Given the description of an element on the screen output the (x, y) to click on. 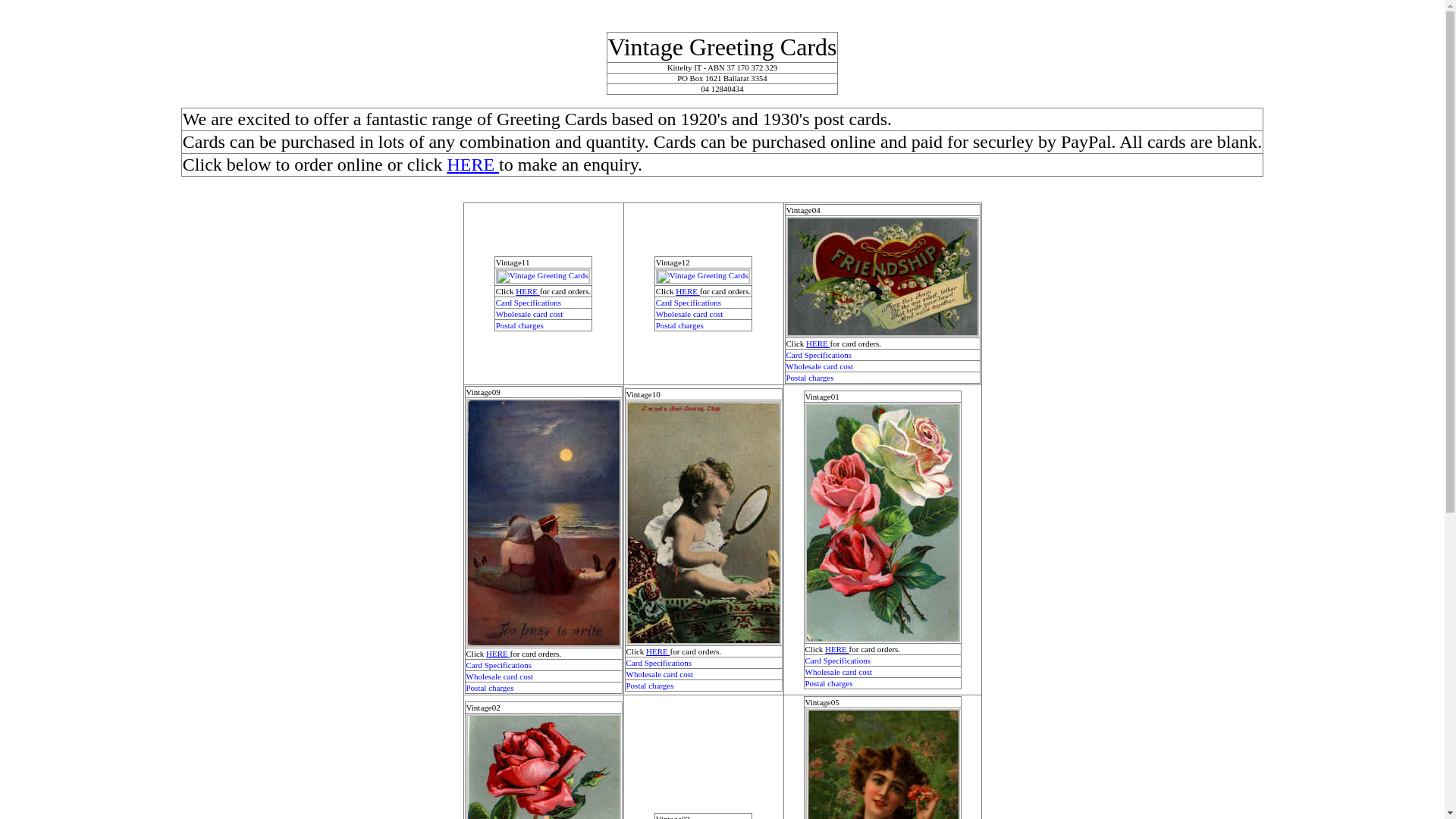
Click image to enlarge. Element type: hover (702, 276)
HERE Element type: text (472, 164)
Click image to enlarge. Element type: hover (542, 522)
Wholesale card cost Element type: text (838, 671)
Click image to enlarge. Element type: hover (881, 276)
Wholesale card cost Element type: text (659, 673)
Wholesale card cost Element type: text (819, 365)
Postal charges Element type: text (650, 685)
Wholesale card cost Element type: text (499, 675)
HERE Element type: text (687, 290)
Wholesale card cost Element type: text (689, 313)
Click image to enlarge. Element type: hover (882, 522)
Card Specifications Element type: text (497, 664)
HERE Element type: text (817, 343)
Click image to enlarge. Element type: hover (542, 276)
Postal charges Element type: text (489, 687)
HERE Element type: text (527, 290)
Postal charges Element type: text (519, 324)
HERE Element type: text (836, 648)
Card Specifications Element type: text (837, 660)
HERE Element type: text (657, 650)
Card Specifications Element type: text (528, 302)
Postal charges Element type: text (679, 324)
Postal charges Element type: text (829, 682)
Click image to enlarge. Element type: hover (703, 522)
Wholesale card cost Element type: text (529, 313)
Card Specifications Element type: text (688, 302)
HERE Element type: text (497, 653)
Card Specifications Element type: text (658, 662)
Postal charges Element type: text (809, 377)
Card Specifications Element type: text (817, 354)
